Given the description of an element on the screen output the (x, y) to click on. 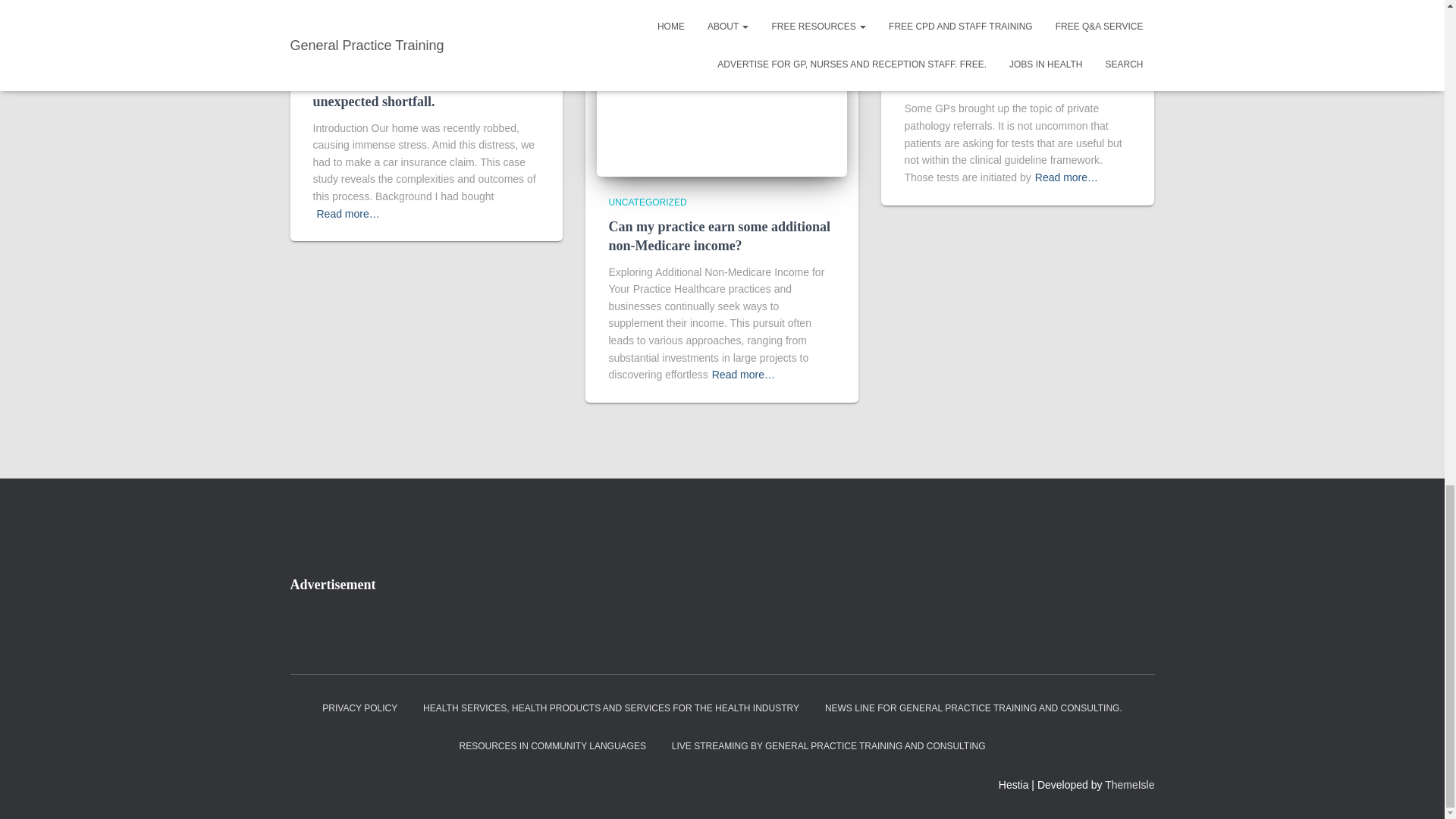
UNCATEGORIZED (351, 58)
Car Insurance case study. An unexpected shortfall. (397, 91)
